Given the description of an element on the screen output the (x, y) to click on. 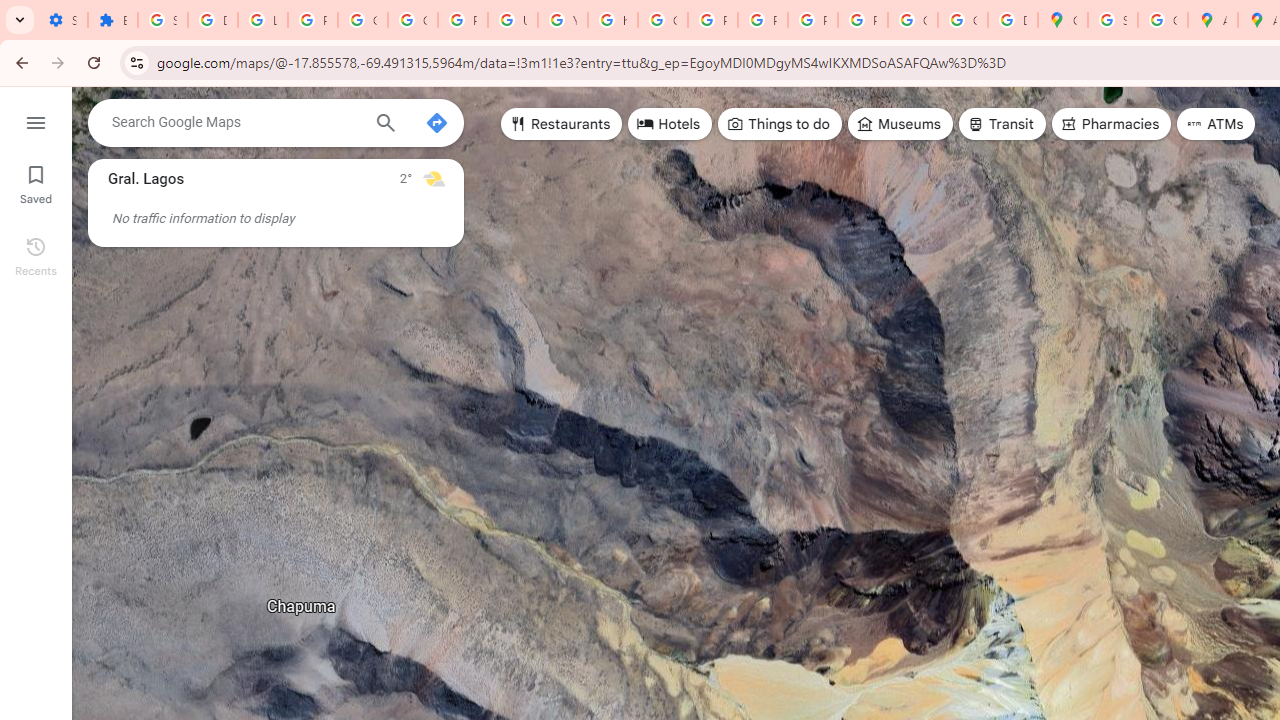
Transit (1001, 124)
Things to do (780, 124)
Learn how to find your photos - Google Photos Help (262, 20)
Pharmacies (1111, 124)
Create your Google Account (1162, 20)
Mostly cloudy (433, 178)
Delete photos & videos - Computer - Google Photos Help (213, 20)
